Given the description of an element on the screen output the (x, y) to click on. 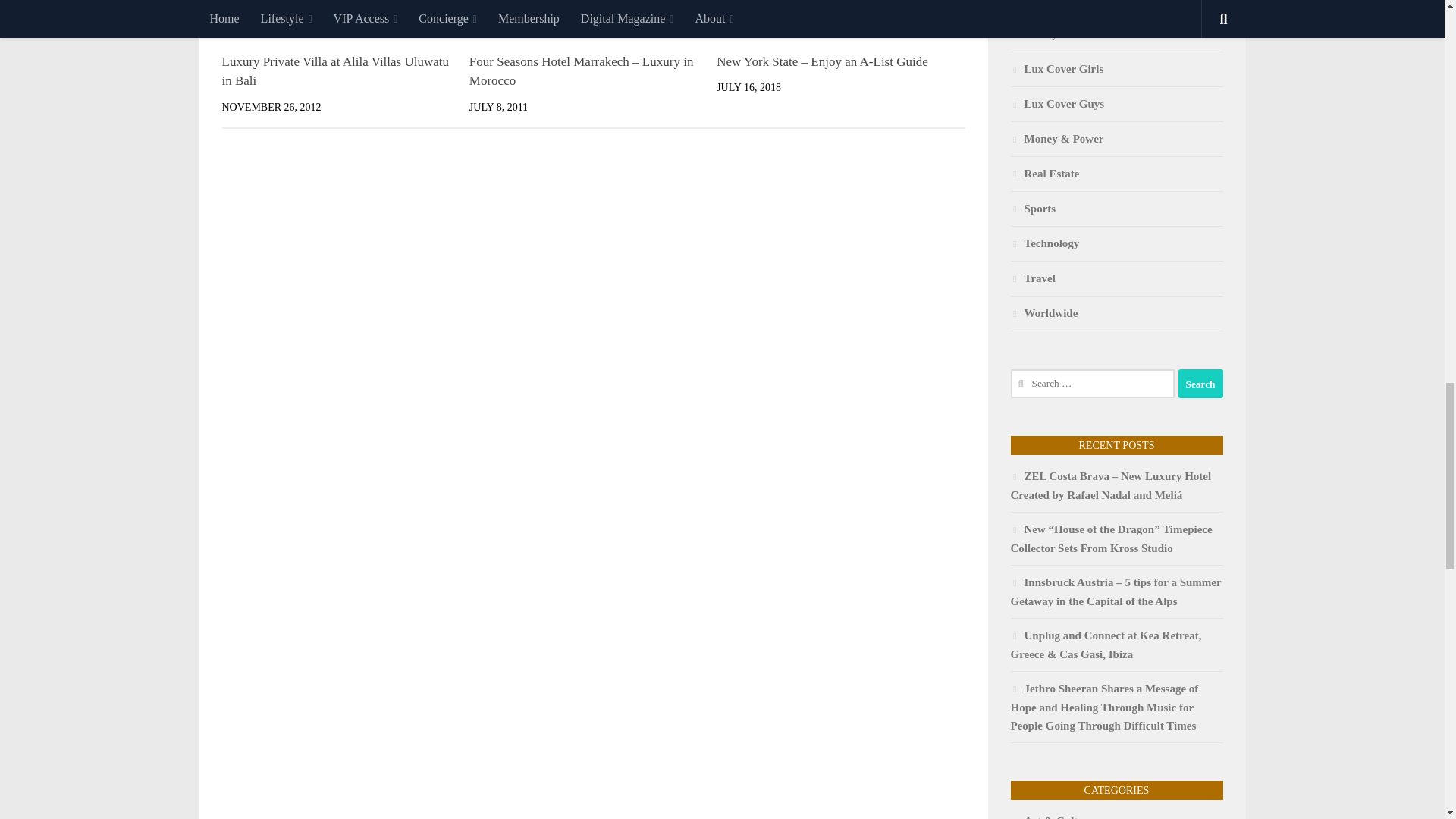
Search (1200, 383)
Search (1200, 383)
